Given the description of an element on the screen output the (x, y) to click on. 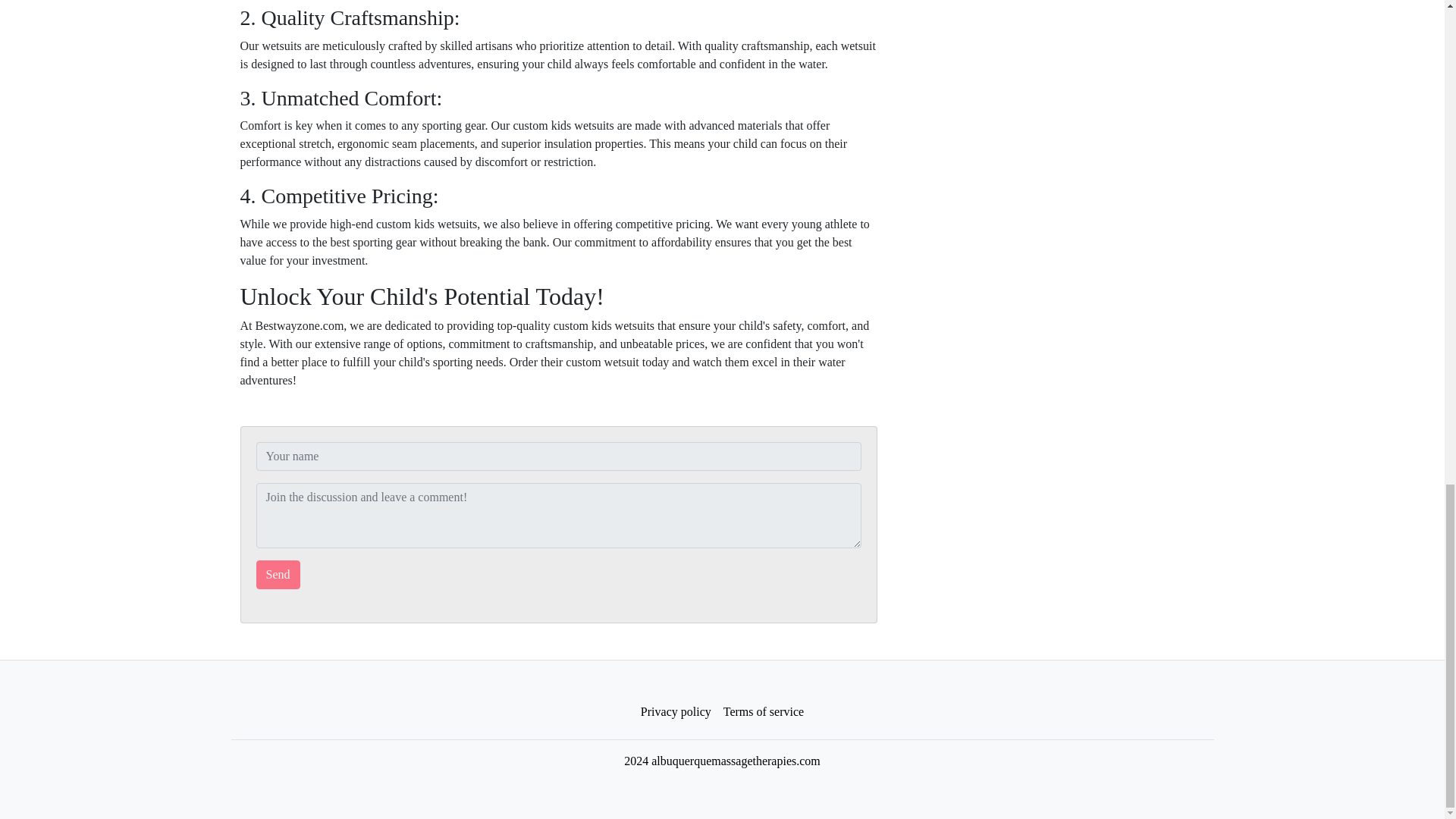
Send (277, 574)
Send (277, 574)
Terms of service (763, 711)
Privacy policy (675, 711)
